Given the description of an element on the screen output the (x, y) to click on. 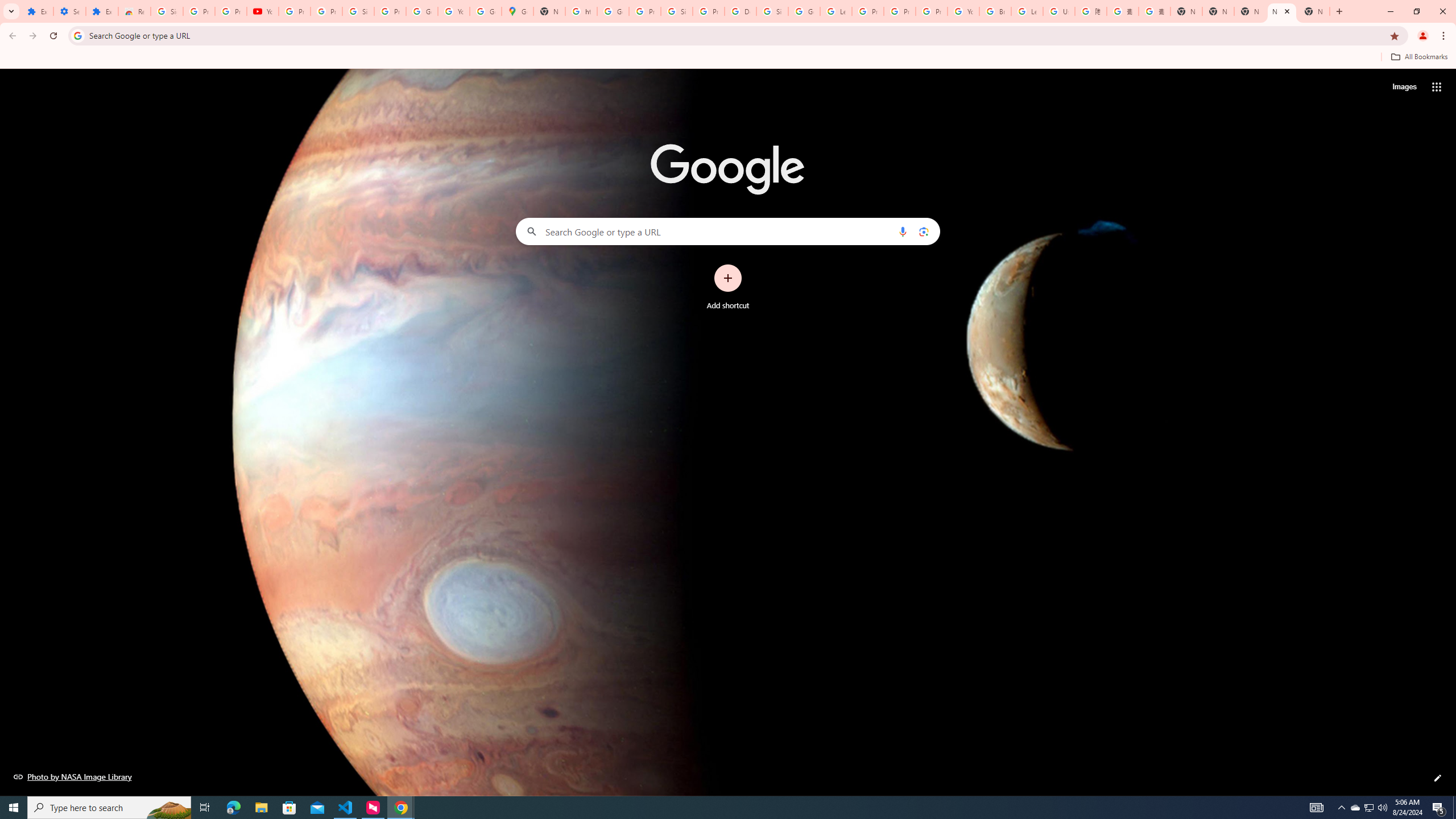
Sign in - Google Accounts (166, 11)
Search Google or type a URL (727, 230)
